Given the description of an element on the screen output the (x, y) to click on. 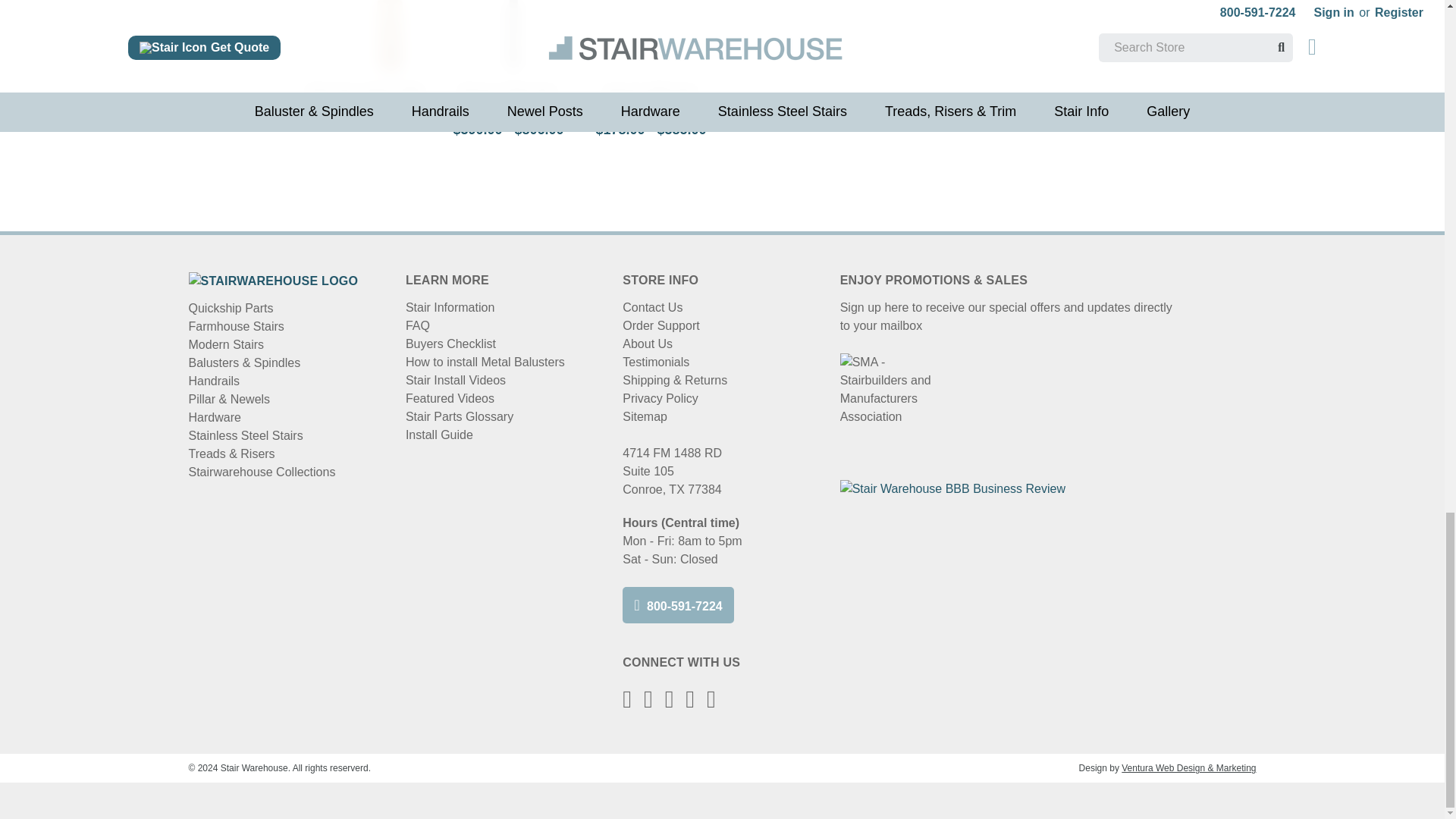
Special 4091 Box Newel -Import (650, 36)
